Given the description of an element on the screen output the (x, y) to click on. 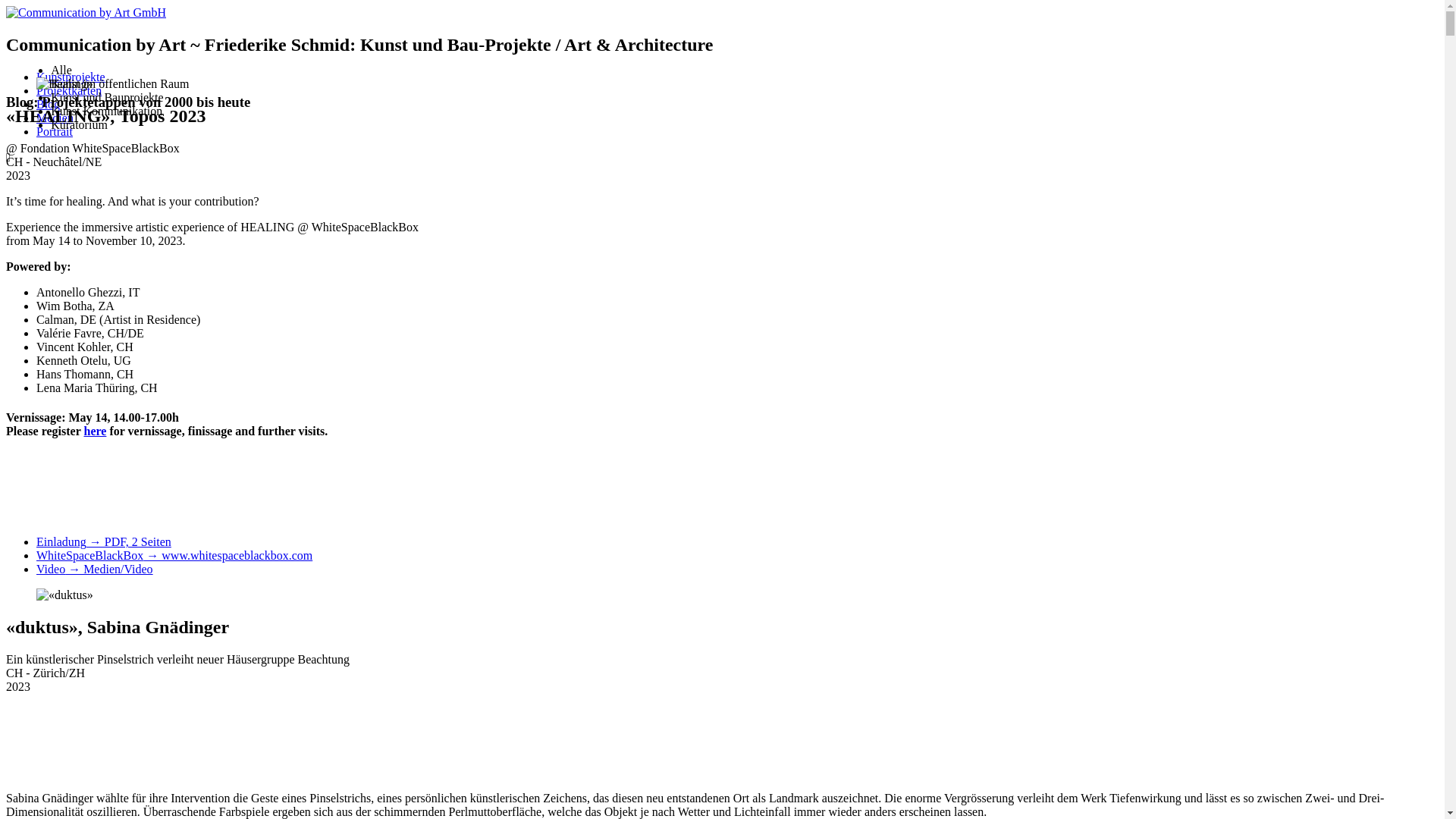
Portrait Element type: text (54, 131)
Kunstprojekte Element type: text (70, 76)
Projektkarten Element type: text (68, 90)
here Element type: text (94, 430)
Medien Element type: text (54, 117)
Blog Element type: text (47, 103)
